Given the description of an element on the screen output the (x, y) to click on. 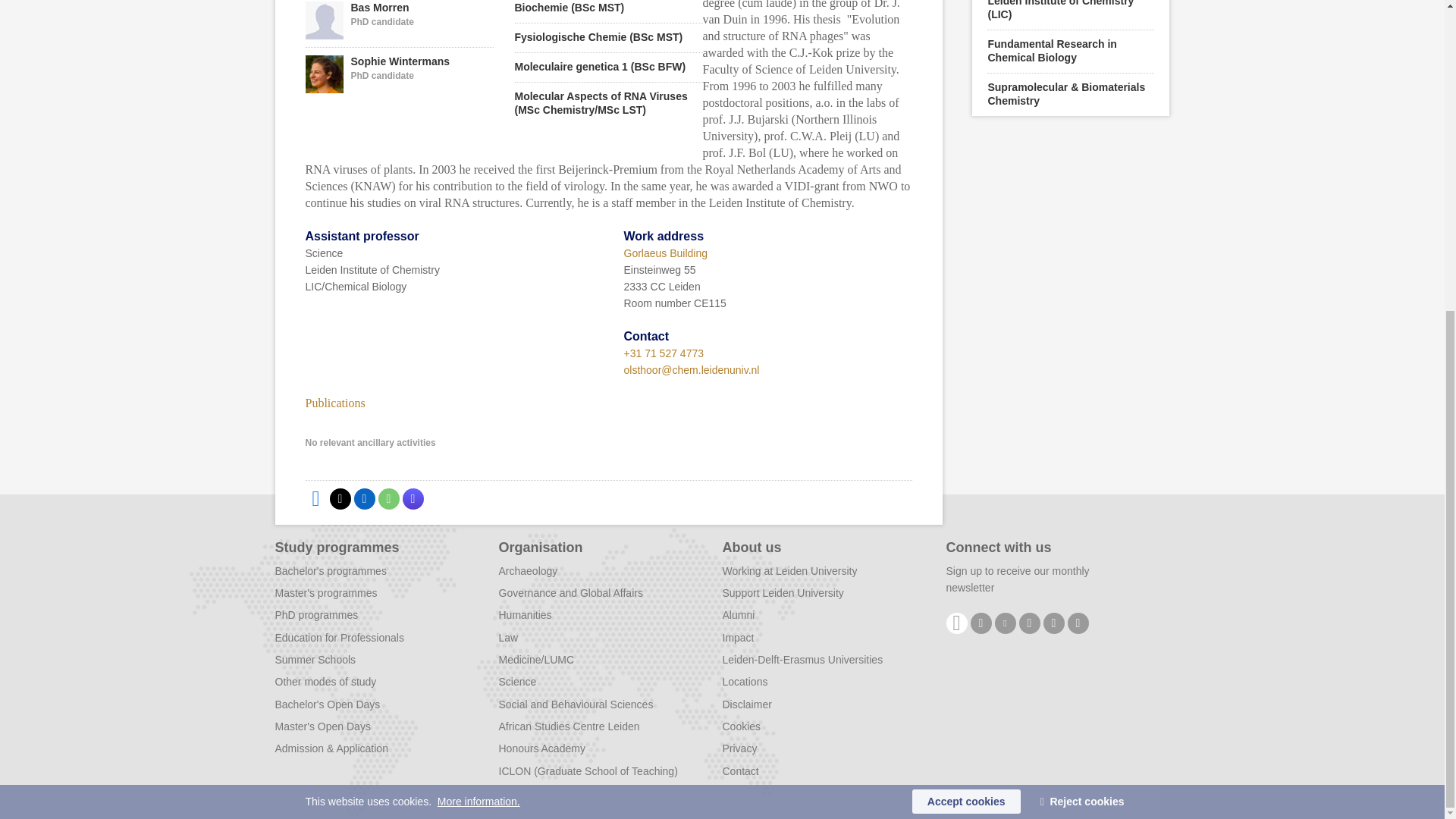
Share by Mastodon (412, 498)
Share on Facebook (315, 498)
Share on X (339, 498)
Share on LinkedIn (398, 23)
Share by WhatsApp (398, 73)
